Given the description of an element on the screen output the (x, y) to click on. 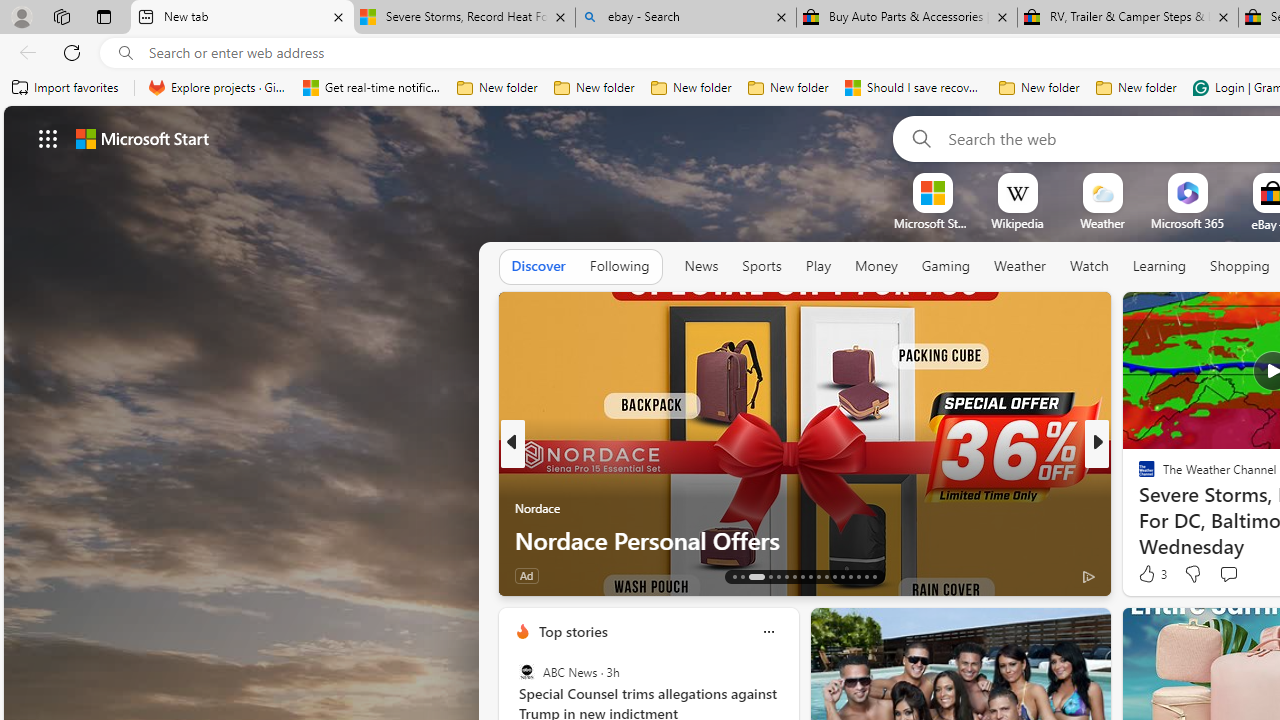
View comments 96 Comment (1234, 575)
AutomationID: tab-14 (742, 576)
Spotlight Feature (1138, 475)
View comments 167 Comment (1247, 574)
AutomationID: tab-28 (865, 576)
Verywell Mind (1138, 507)
